Given the description of an element on the screen output the (x, y) to click on. 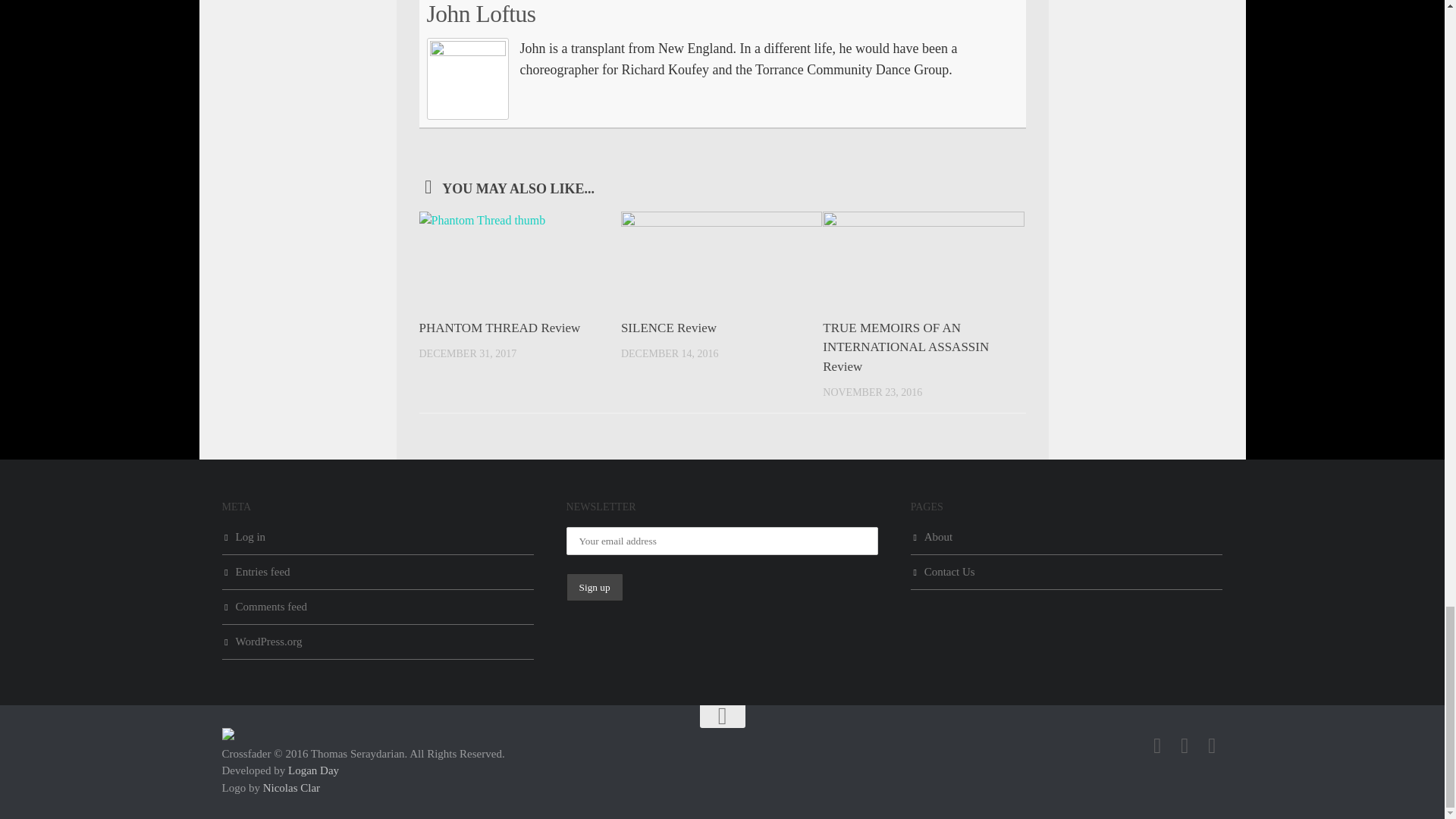
All posts by John Loftus (480, 13)
Sign up (594, 587)
